Given the description of an element on the screen output the (x, y) to click on. 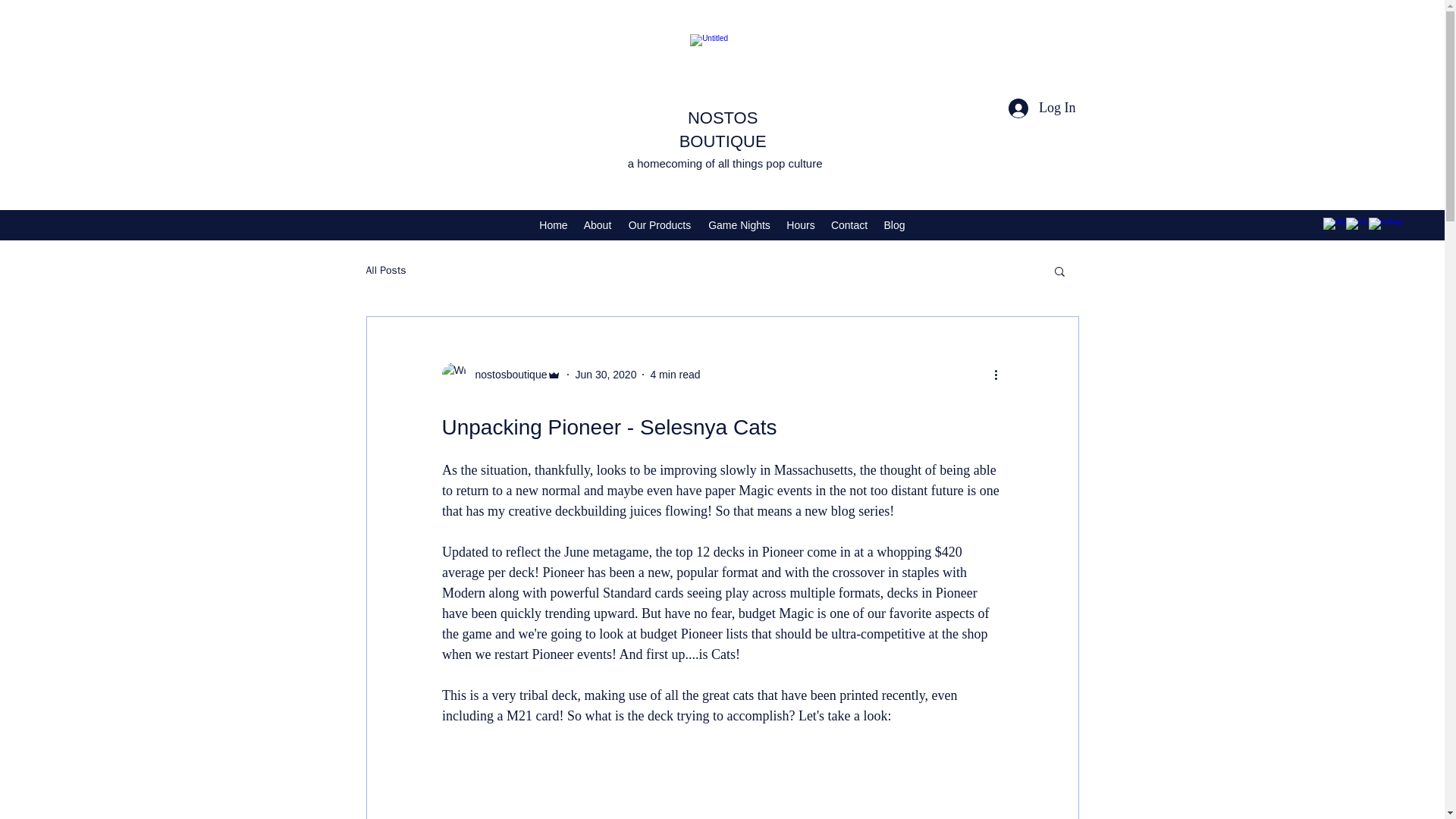
All Posts (385, 270)
About (597, 224)
Home (553, 224)
Log In (1041, 108)
Game Nights (739, 224)
Our Products (660, 224)
Contact (849, 224)
nostosboutique (506, 374)
nostosboutique (500, 374)
Blog (894, 224)
